Given the description of an element on the screen output the (x, y) to click on. 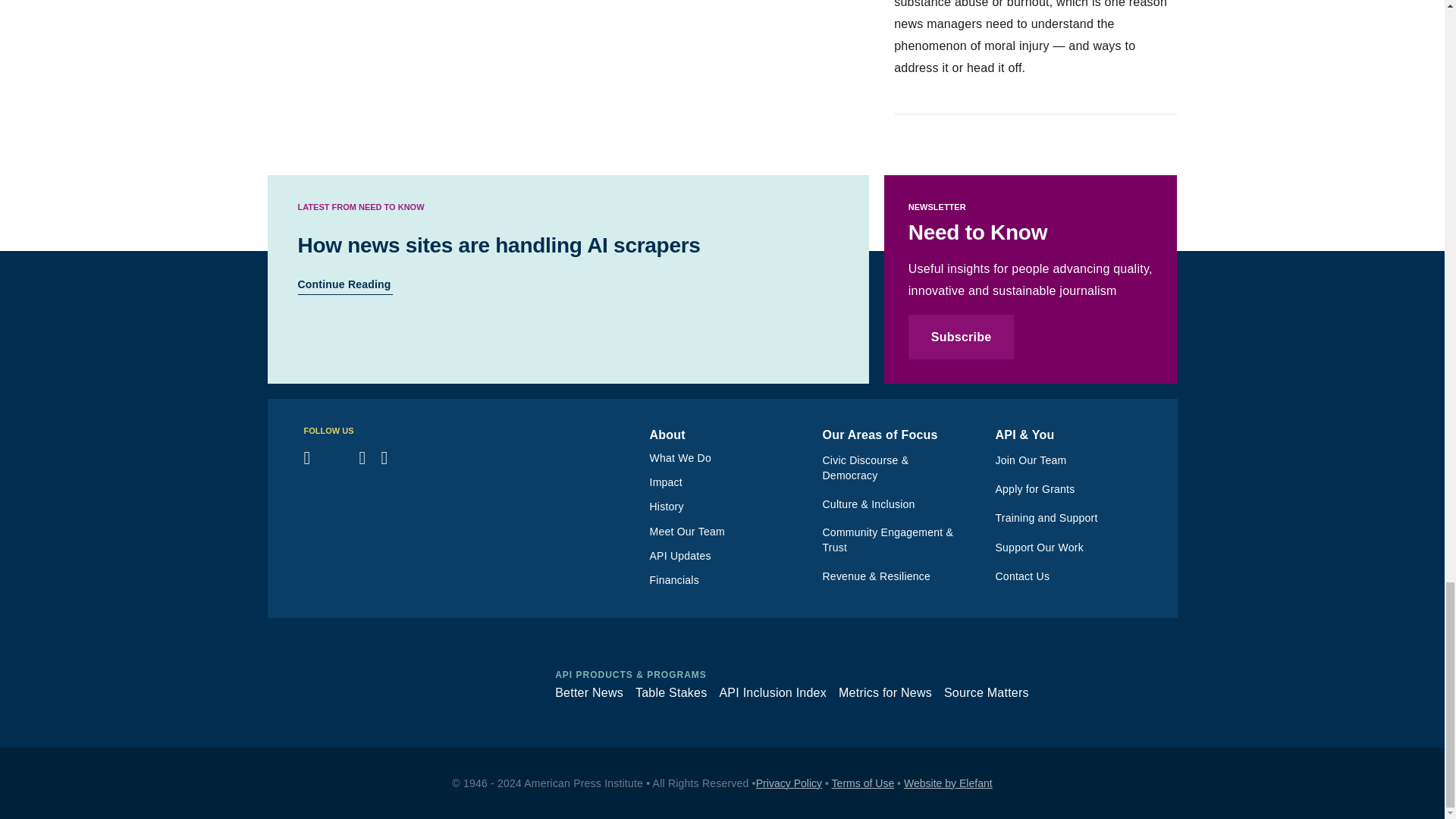
Threads (334, 457)
Who We Are (727, 458)
Impact (727, 482)
X (412, 457)
